Given the description of an element on the screen output the (x, y) to click on. 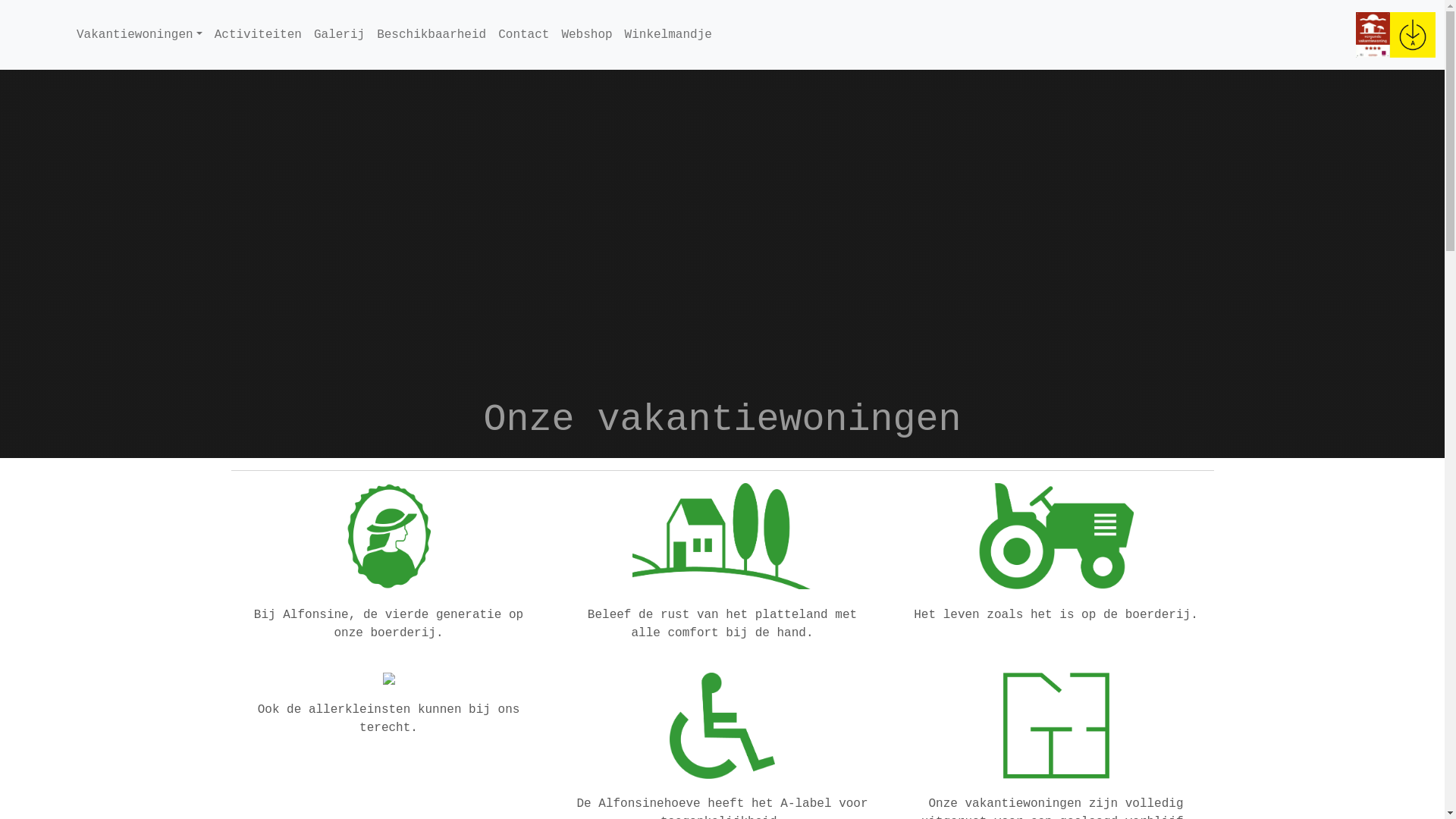
Beschikbaarheid Element type: text (431, 34)
Galerij Element type: text (338, 34)
Contact Element type: text (523, 34)
Vergunde vakantiewoning Element type: hover (1372, 34)
Webshop Element type: text (586, 34)
Vakantiewoningen Element type: text (139, 34)
Activiteiten Element type: text (257, 34)
Winkelmandje Element type: text (668, 34)
A label Element type: hover (1412, 34)
